Given the description of an element on the screen output the (x, y) to click on. 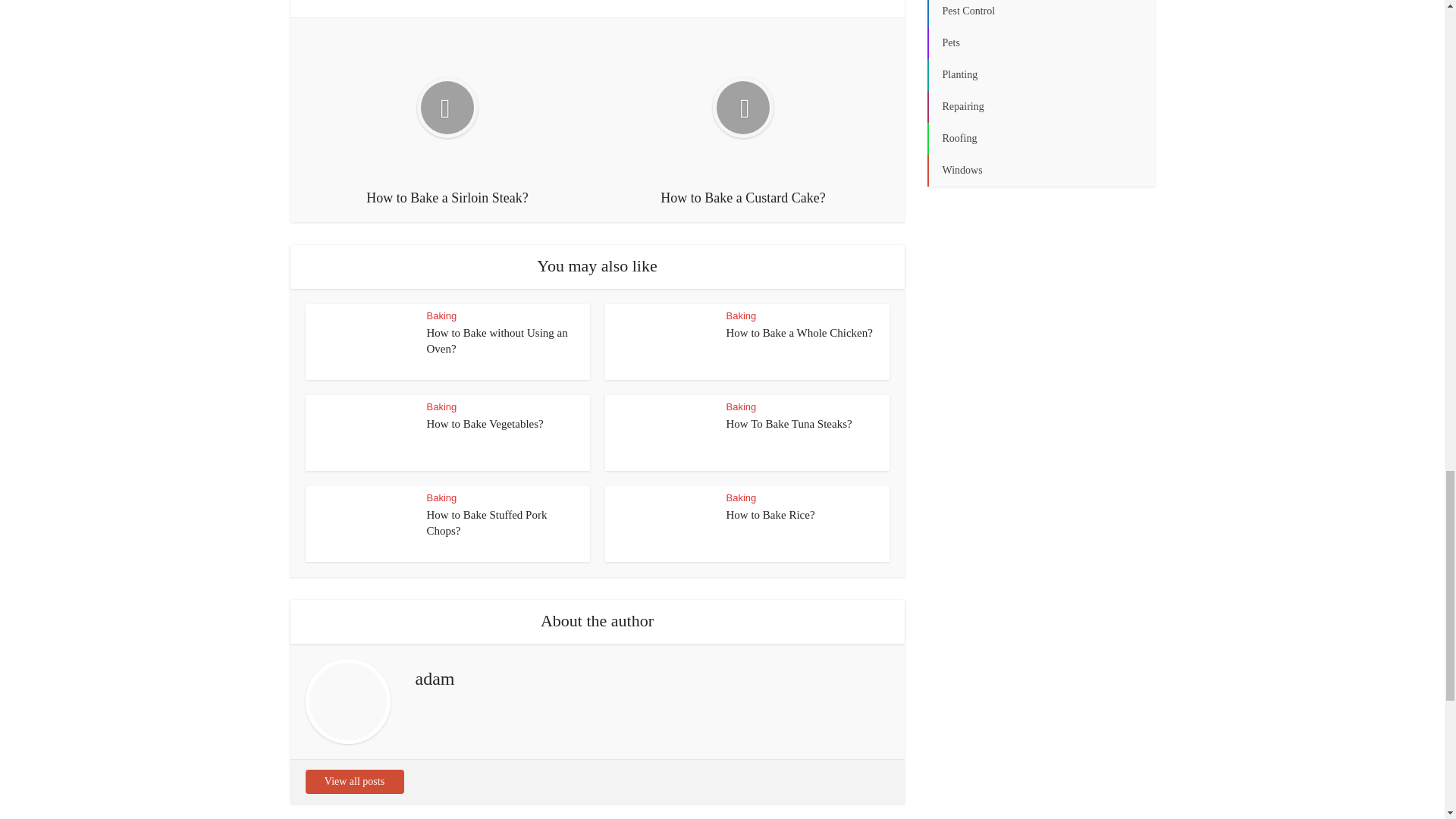
How to Bake Vegetables? (484, 423)
How to Bake a Whole Chicken? (799, 332)
Baking (441, 315)
How to Bake Stuffed Pork Chops? (486, 522)
How to Bake a Whole Chicken? (799, 332)
How to Bake without Using an Oven? (496, 339)
How to Bake Vegetables? (484, 423)
Baking (741, 497)
Baking (441, 497)
How to Bake Rice? (770, 514)
Baking (741, 406)
How to Bake a Custard Cake? (742, 120)
How to Bake without Using an Oven? (496, 339)
Baking (741, 315)
Baking (441, 406)
